Given the description of an element on the screen output the (x, y) to click on. 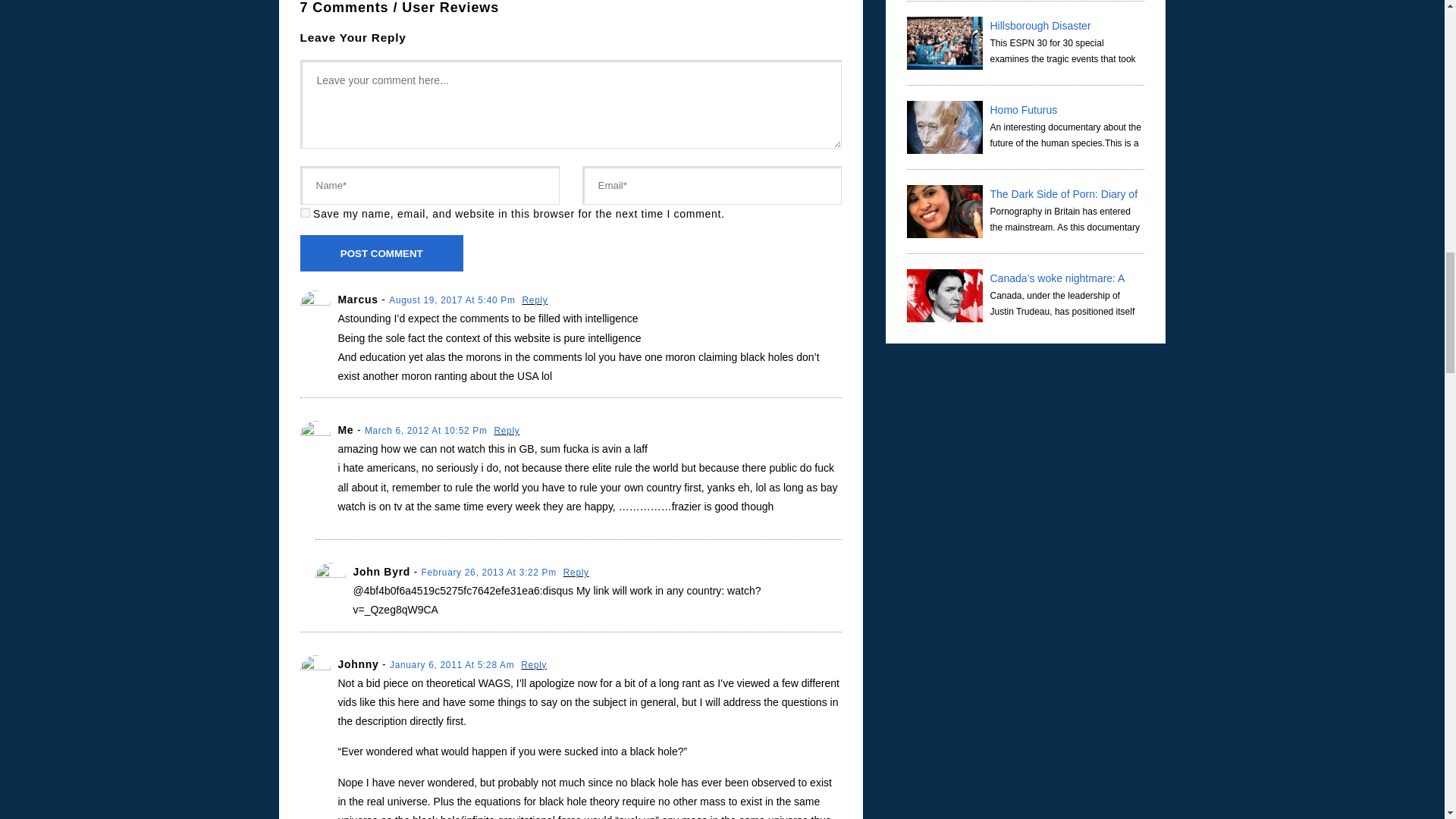
Reply (535, 299)
Reply (507, 430)
August 19, 2017 At 5:40 Pm (453, 299)
Post Comment (381, 253)
January 6, 2011 At 5:28 Am (453, 665)
March 6, 2012 At 10:52 Pm (427, 430)
February 26, 2013 At 3:22 Pm (490, 572)
Reply (534, 665)
Post Comment (381, 253)
yes (304, 212)
Reply (576, 572)
